Given the description of an element on the screen output the (x, y) to click on. 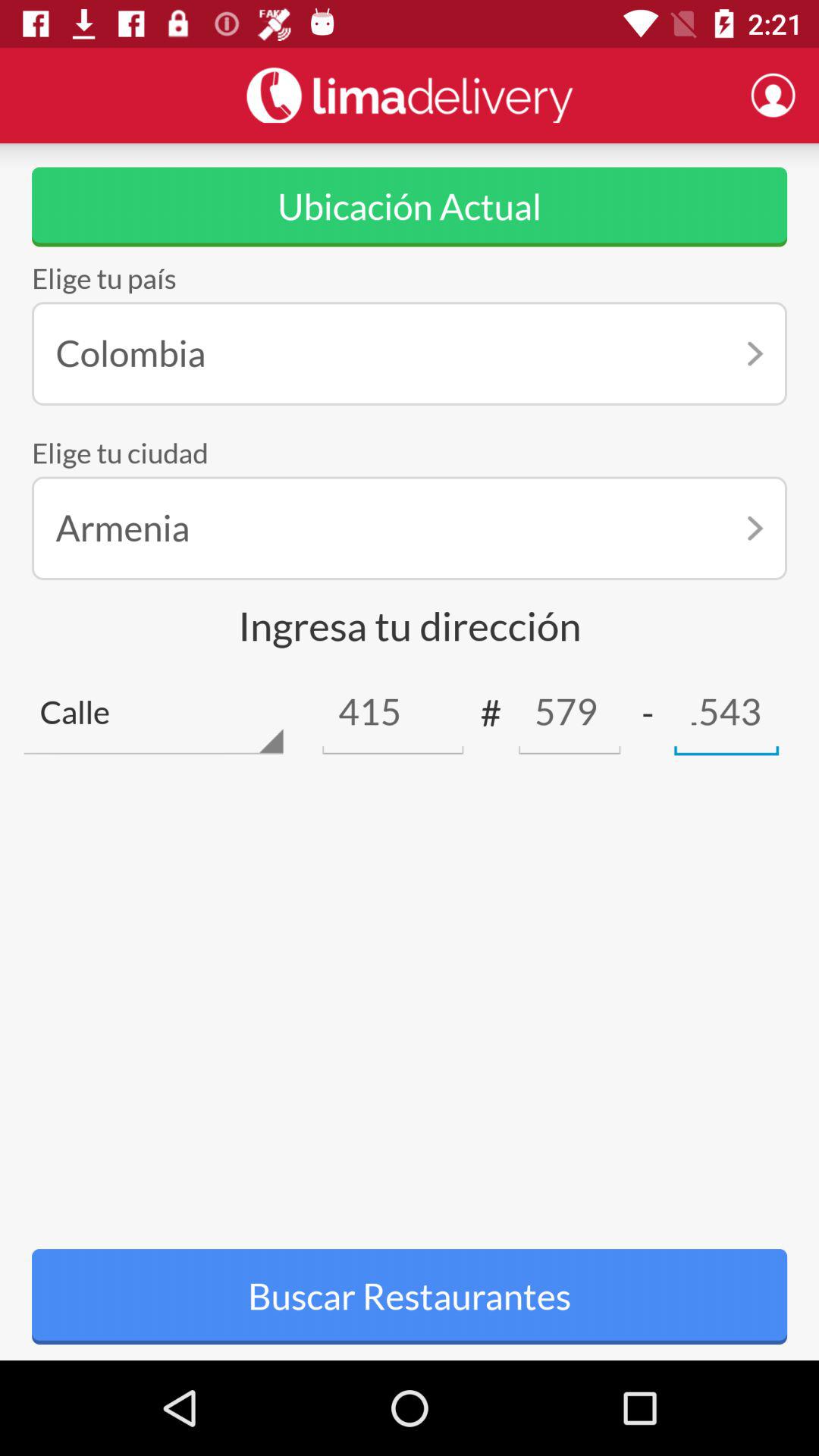
view your profile (773, 95)
